Given the description of an element on the screen output the (x, y) to click on. 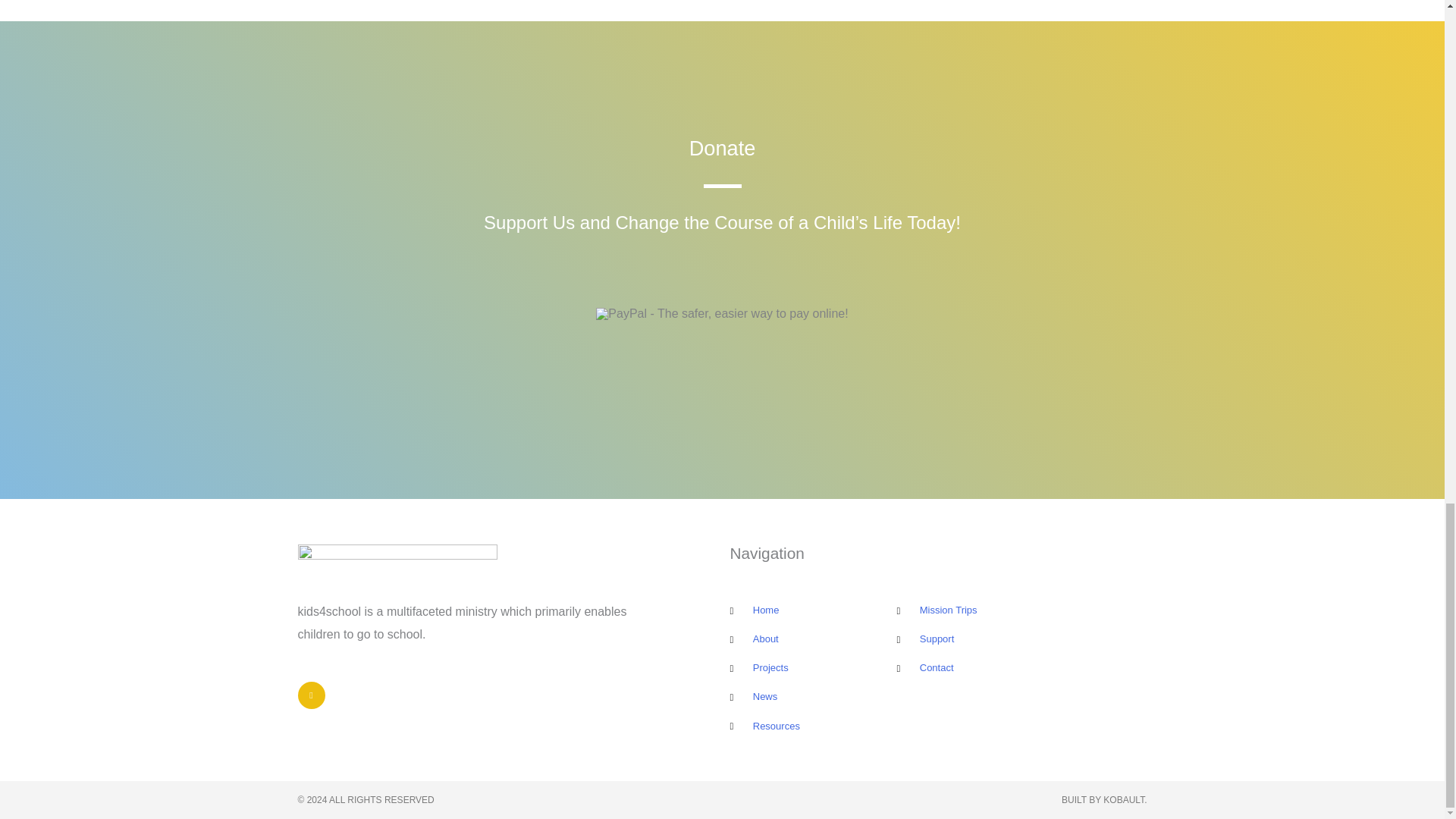
About (812, 638)
Contact (1021, 668)
Projects (812, 668)
Support (1021, 638)
BUILT BY KOBAULT. (1104, 799)
Facebook-f (310, 695)
Resources (812, 726)
Home (812, 610)
News (812, 696)
Mission Trips (1021, 610)
